Given the description of an element on the screen output the (x, y) to click on. 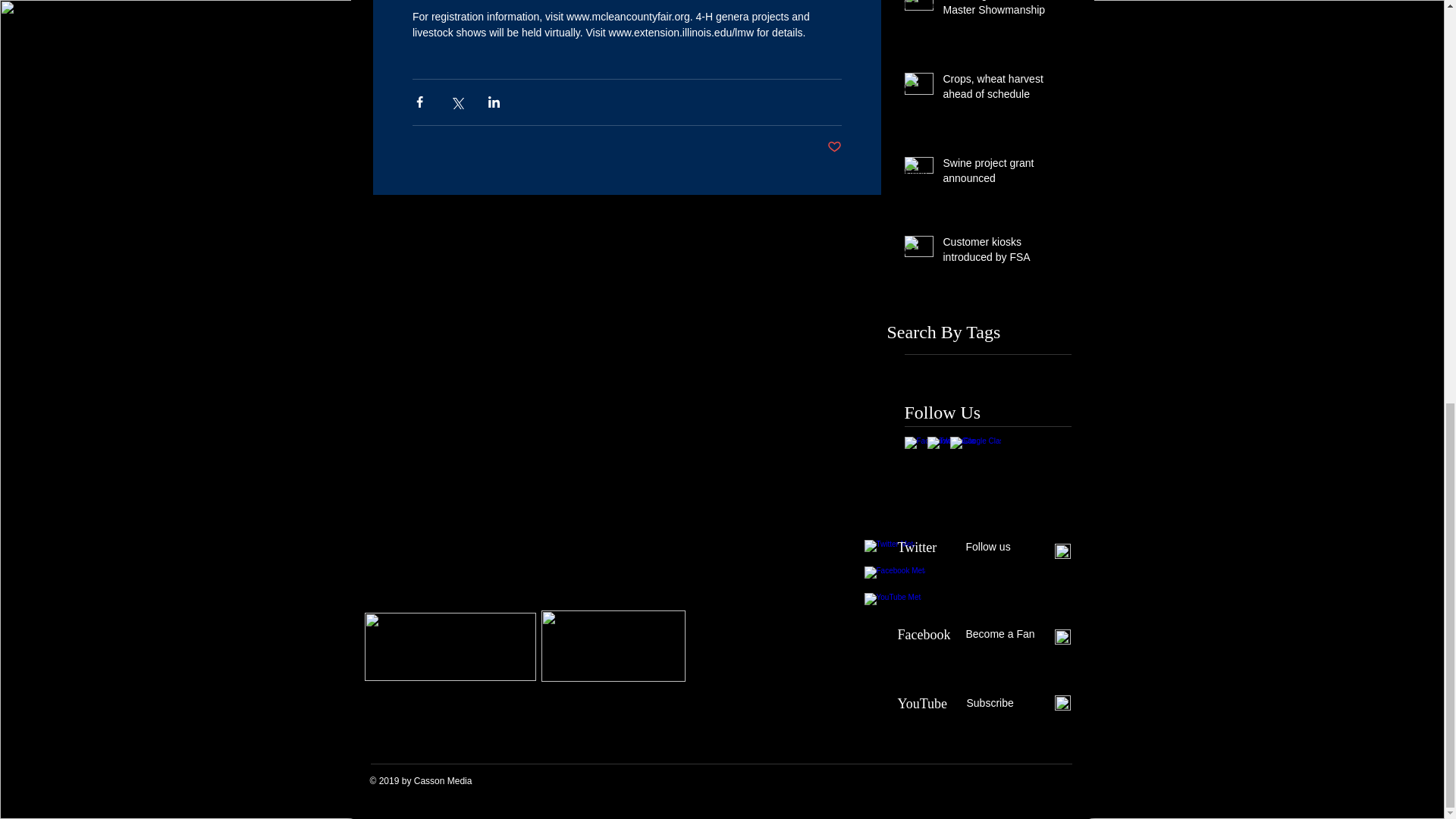
Customer kiosks introduced by FSA (997, 253)
CASSON MEDIA LOGO plain.jpg (449, 646)
Lemenager wins Master Showmanship (997, 11)
Crops, wheat harvest ahead of schedule (997, 89)
Post not marked as liked (834, 147)
Swine project grant announced (997, 173)
EYE ON CENTRAL ILLINOIS 3.jpg (613, 645)
